Given the description of an element on the screen output the (x, y) to click on. 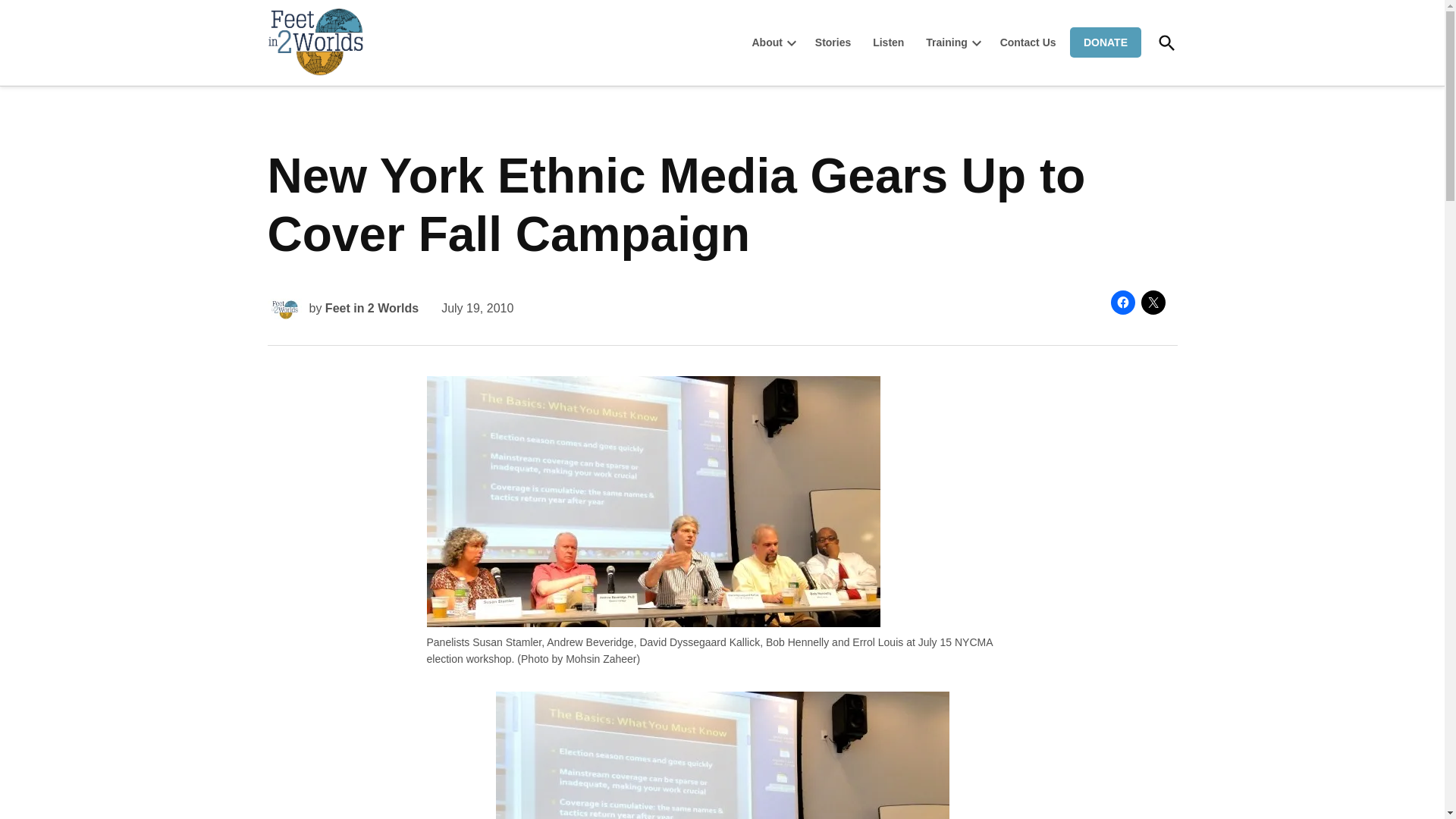
Click to share on Facebook (1121, 302)
Open dropdown menu (976, 42)
Listen (887, 42)
Click to share on X (1152, 302)
Open dropdown menu (791, 42)
Training (942, 42)
Feet in 2 Worlds (401, 74)
About (766, 42)
Stories (833, 42)
